Given the description of an element on the screen output the (x, y) to click on. 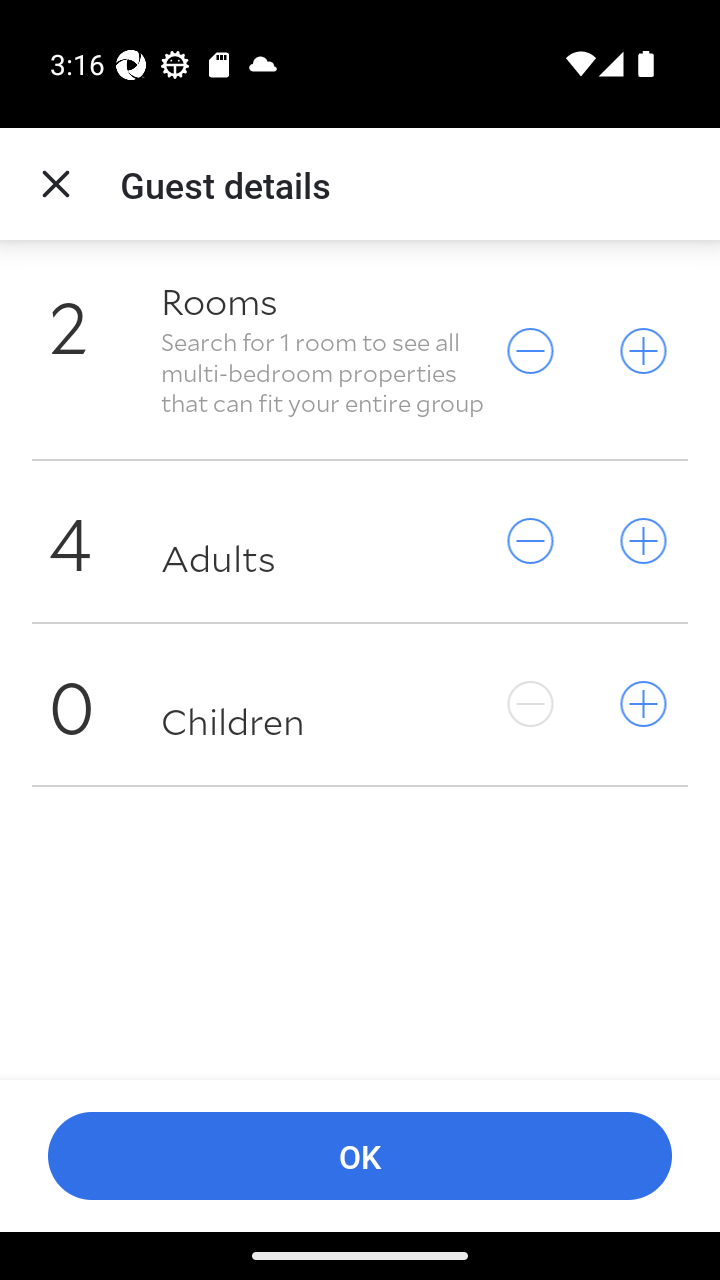
OK (359, 1156)
